Given the description of an element on the screen output the (x, y) to click on. 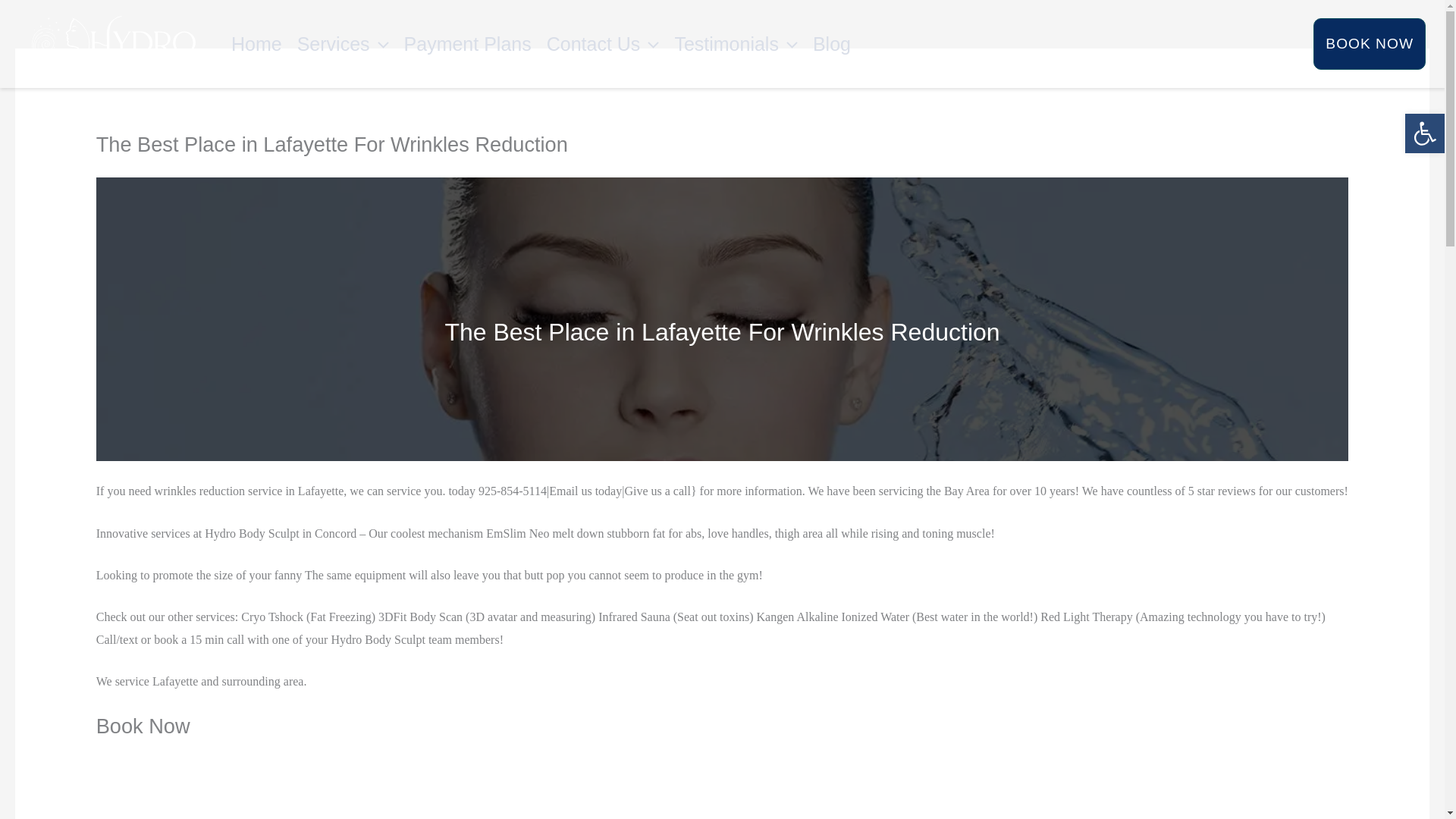
Services (342, 43)
Payment Plans (467, 43)
Blog (832, 43)
Testimonials (735, 43)
Accessibility Tools (1424, 133)
BOOK NOW (1369, 43)
Contact Us (602, 43)
Home (256, 43)
